Given the description of an element on the screen output the (x, y) to click on. 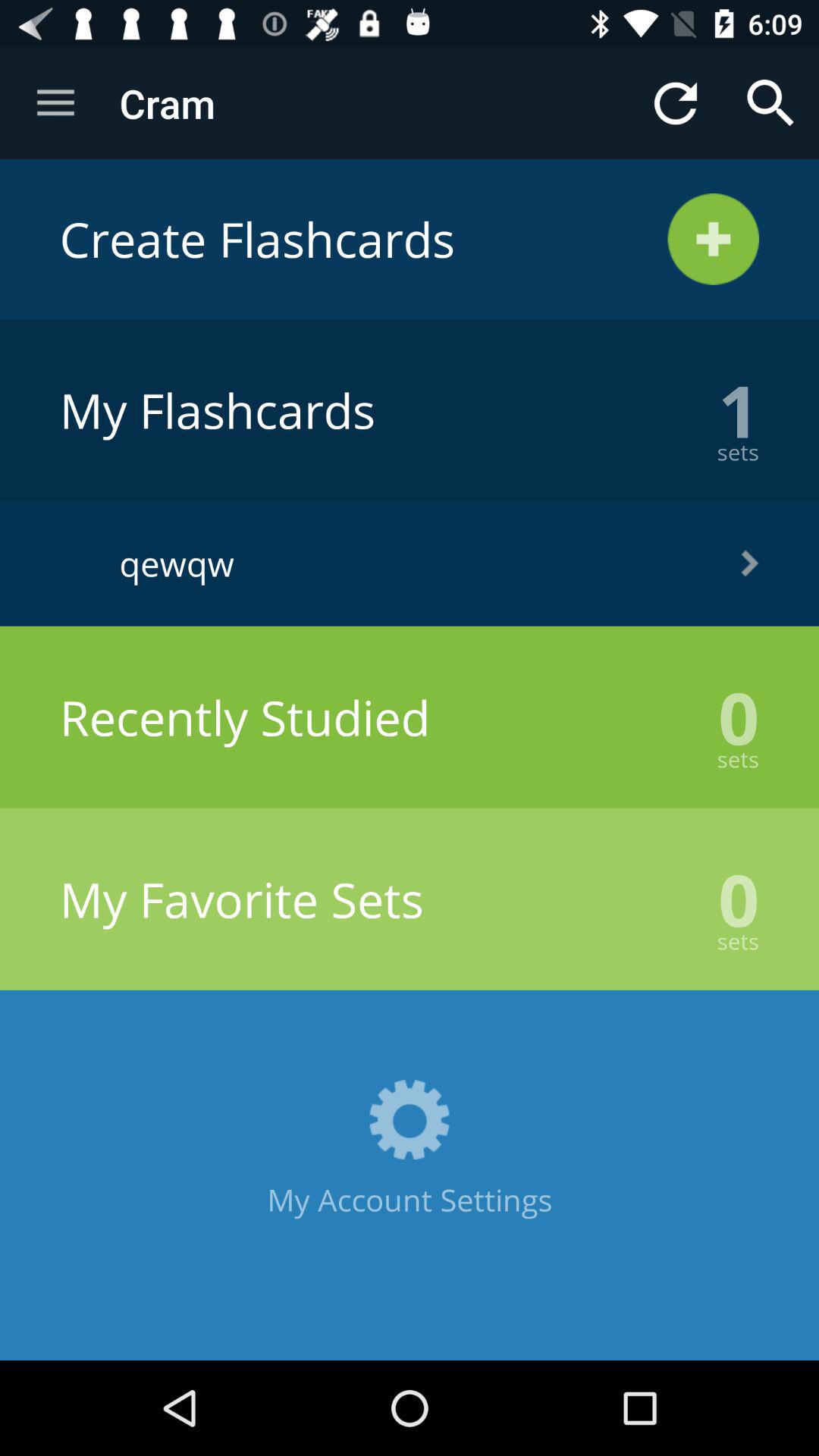
click item next to the cram (675, 103)
